Given the description of an element on the screen output the (x, y) to click on. 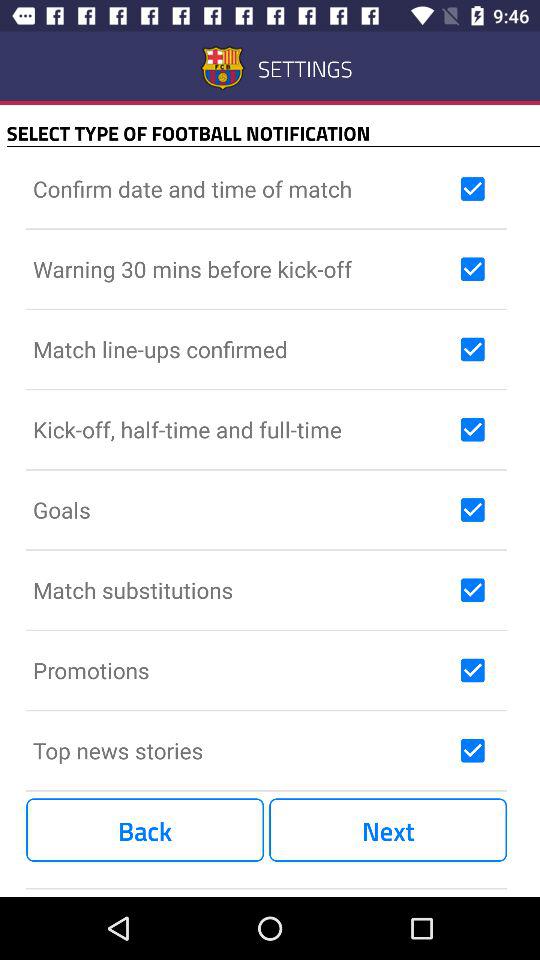
top news stories check box (472, 750)
